Given the description of an element on the screen output the (x, y) to click on. 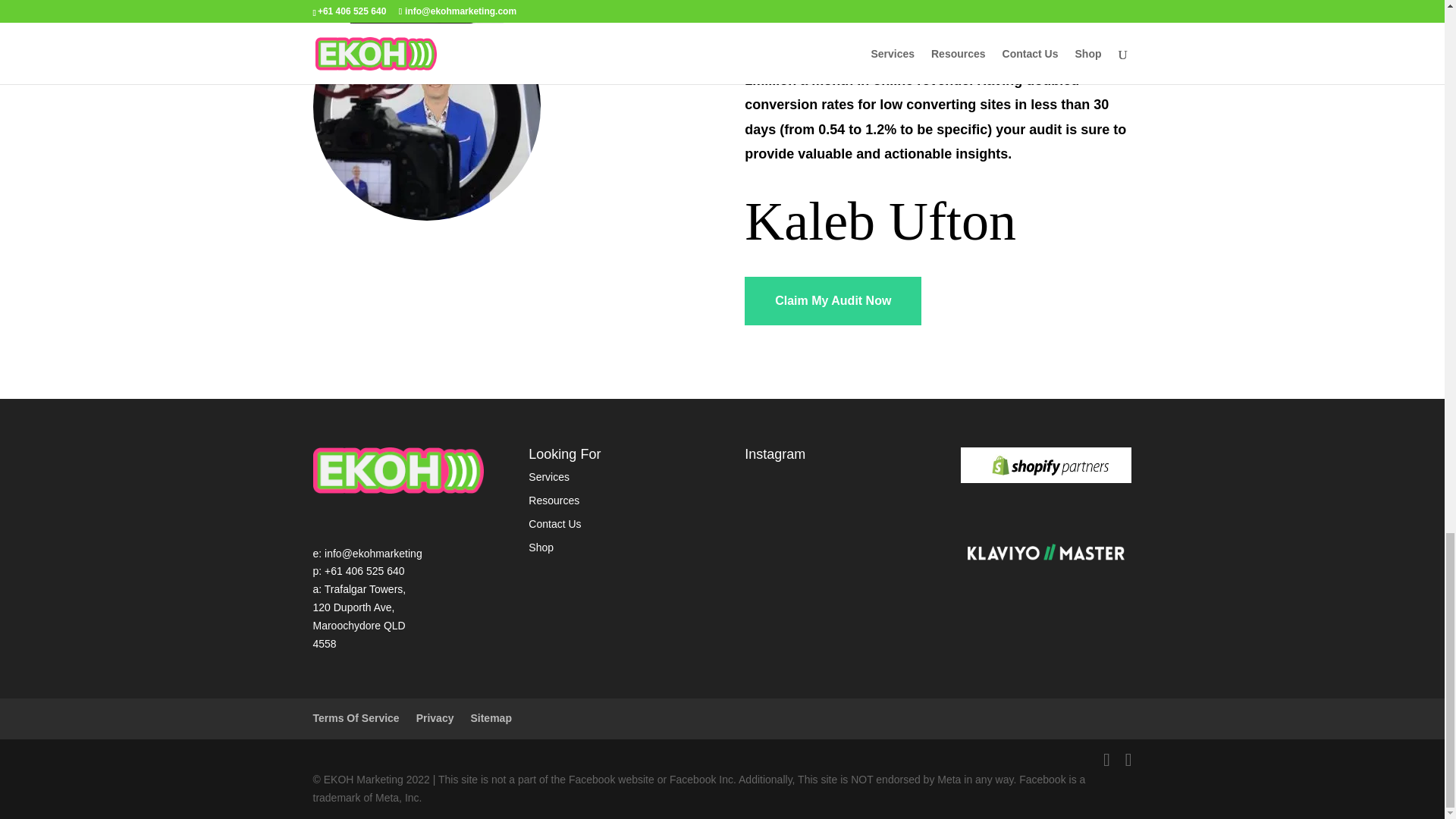
Business Fundamentals (1045, 465)
Terms Of Service (355, 717)
Claim My Audit Now (832, 300)
Contact Us (554, 523)
Shop (540, 547)
Privacy (435, 717)
Resources (553, 500)
Services (548, 476)
Sitemap (490, 717)
